Given the description of an element on the screen output the (x, y) to click on. 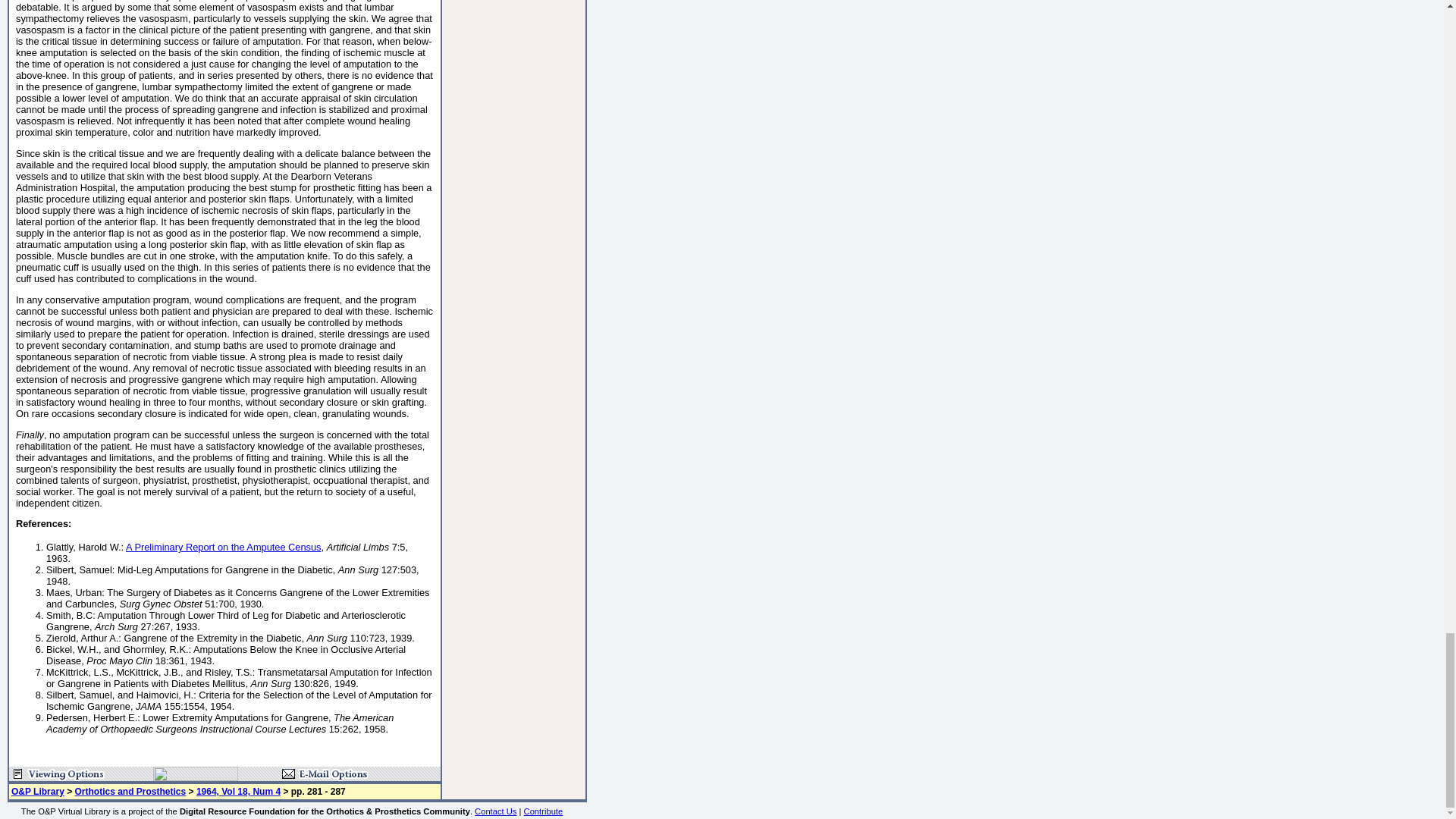
Contact Us (495, 810)
1964, Vol 18, Num 4 (238, 791)
A Preliminary Report on the Amputee Census (223, 546)
Orthotics and Prosthetics (130, 791)
